Given the description of an element on the screen output the (x, y) to click on. 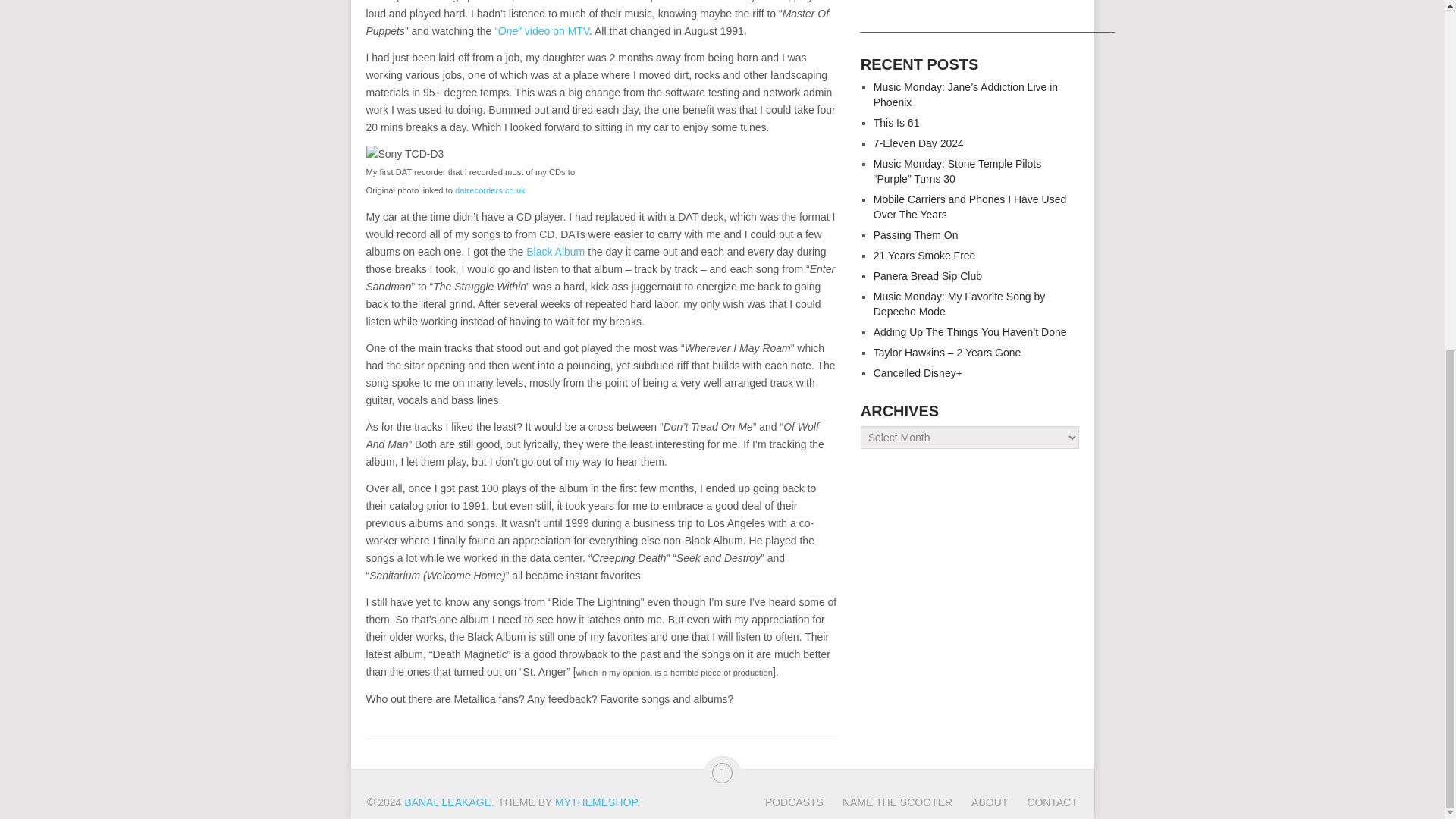
PODCASTS (794, 802)
ABOUT (979, 802)
datrecorders.co.uk (489, 189)
Black Album (555, 251)
Panera Bread Sip Club (927, 275)
21 Years Smoke Free (924, 255)
NAME THE SCOOTER (888, 802)
datrecorders.co.uk (489, 189)
MYTHEMESHOP (595, 802)
Metallica One (542, 30)
